Given the description of an element on the screen output the (x, y) to click on. 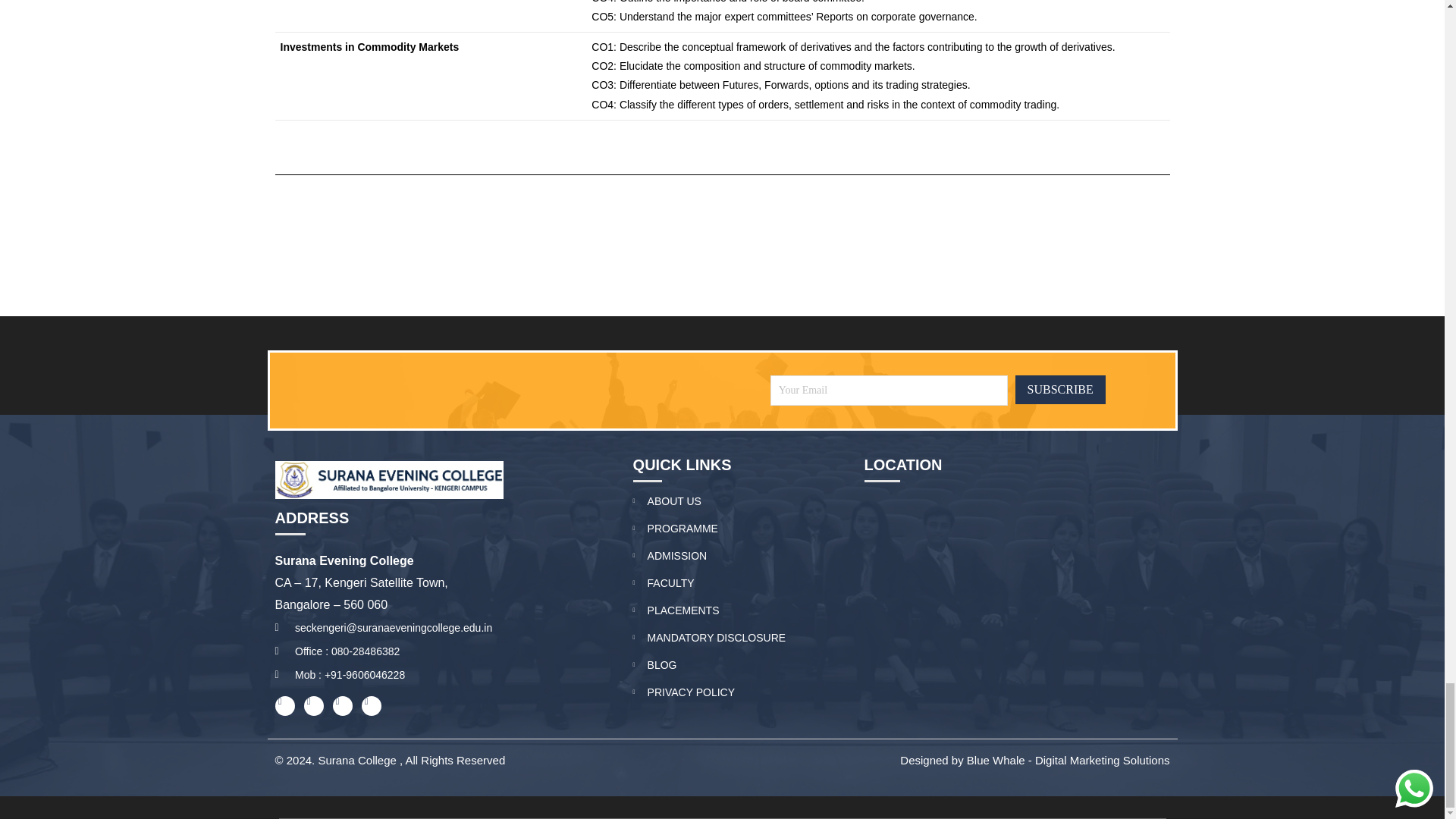
Your Email (888, 390)
